Given the description of an element on the screen output the (x, y) to click on. 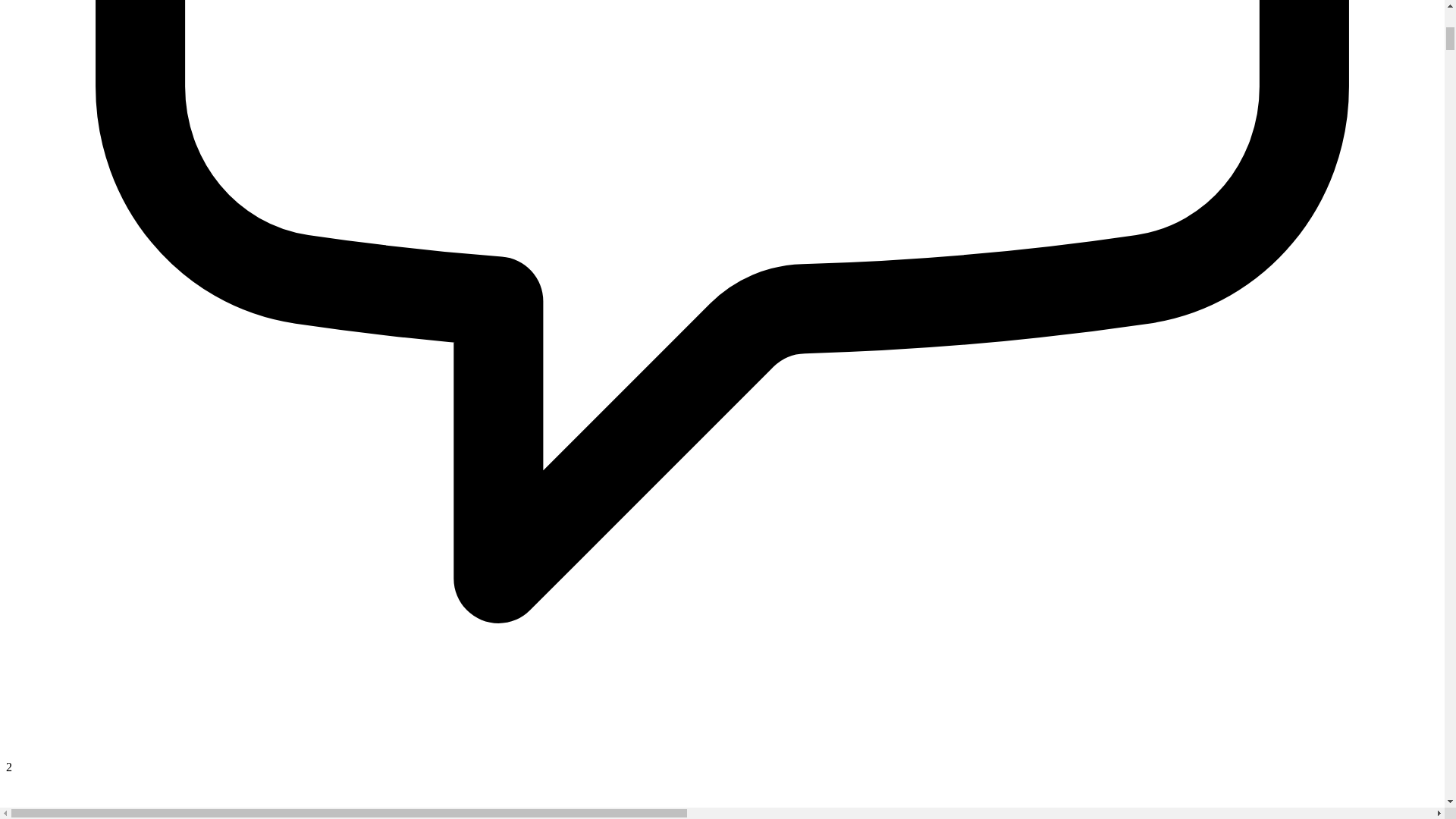
2 (721, 759)
